Given the description of an element on the screen output the (x, y) to click on. 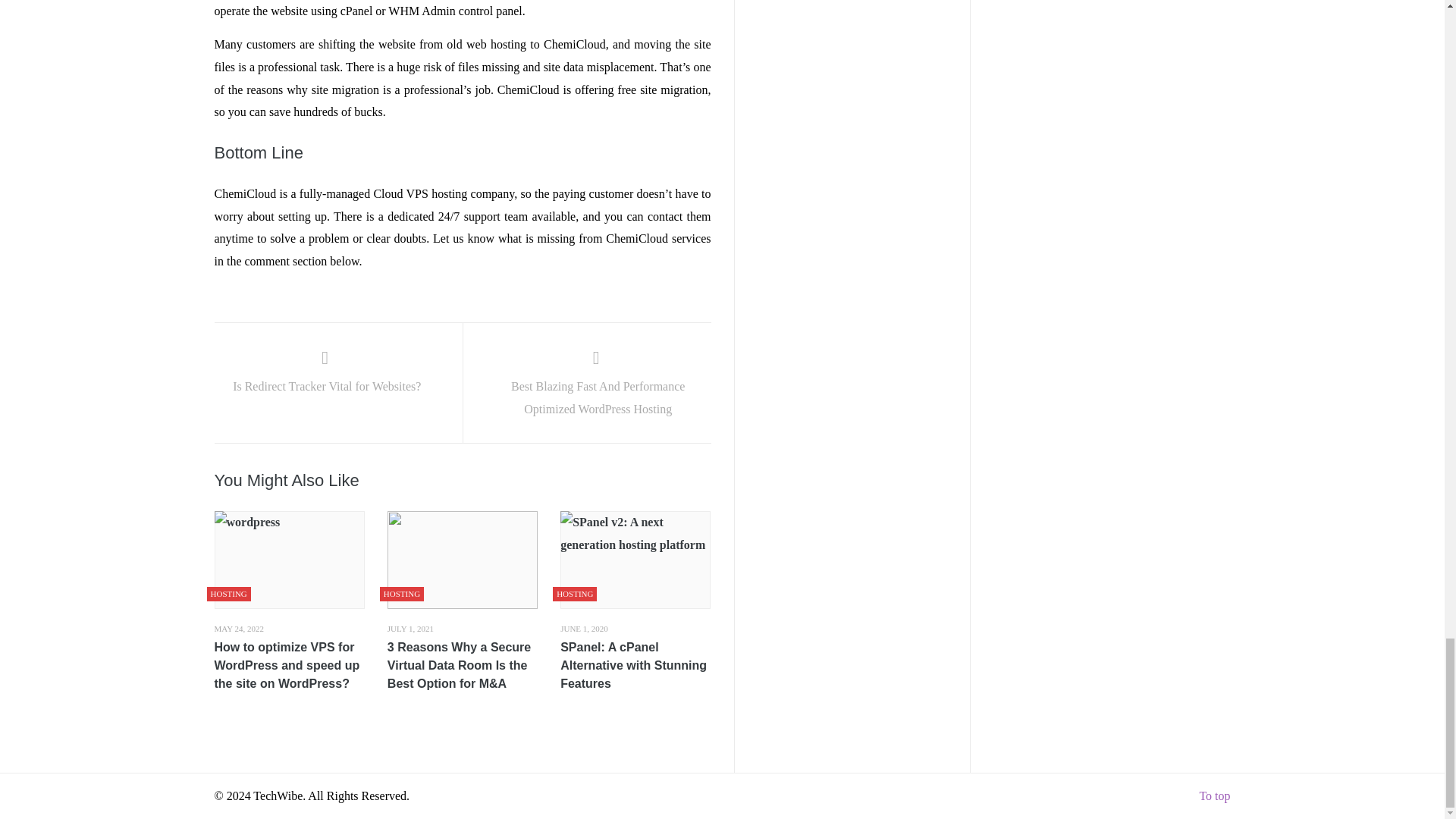
Is Redirect Tracker Vital for Websites? (326, 374)
